Given the description of an element on the screen output the (x, y) to click on. 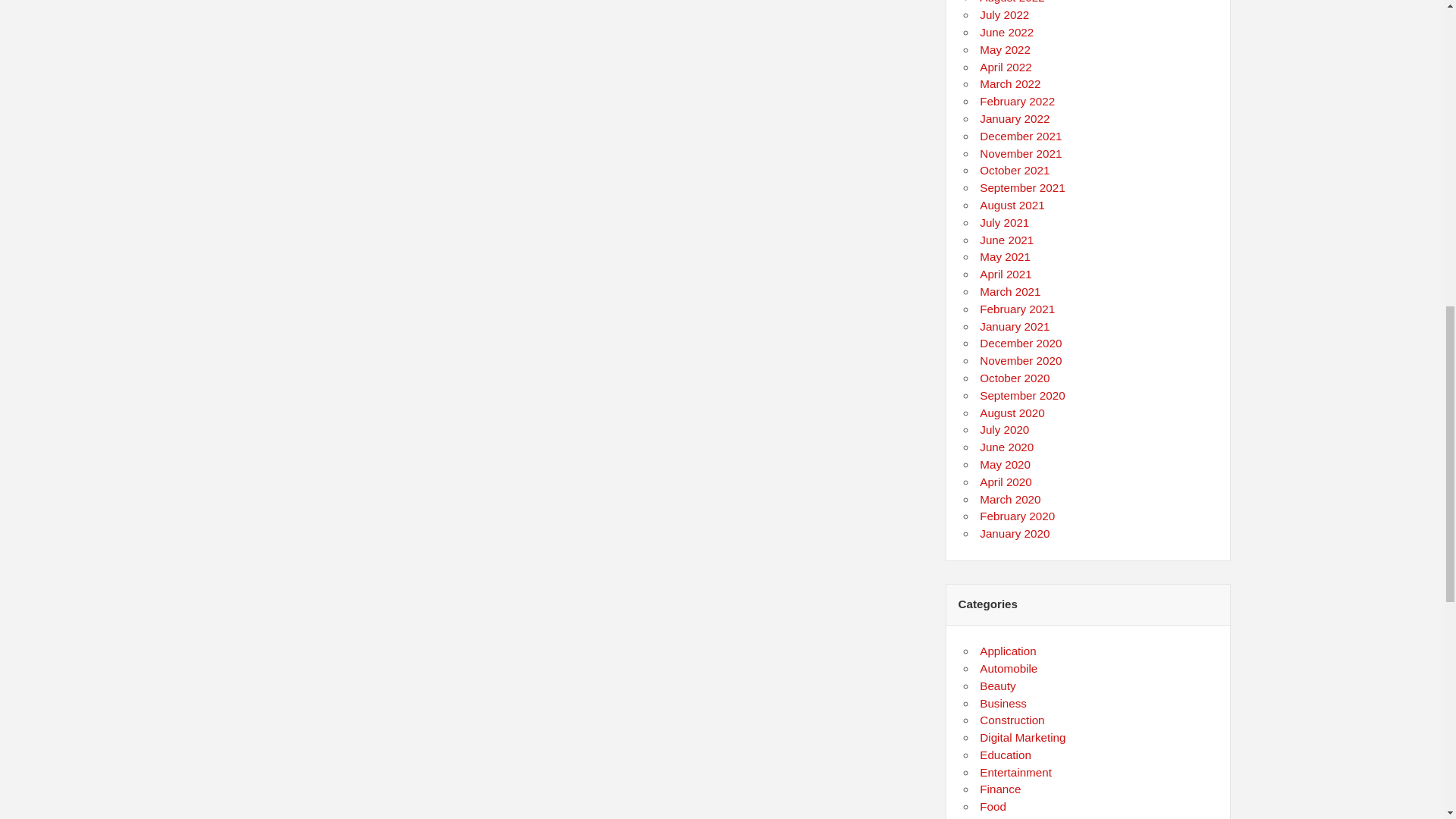
April 2022 (1004, 66)
August 2022 (1011, 2)
July 2022 (1004, 14)
June 2022 (1006, 31)
March 2022 (1010, 83)
February 2022 (1016, 101)
May 2022 (1004, 49)
